Given the description of an element on the screen output the (x, y) to click on. 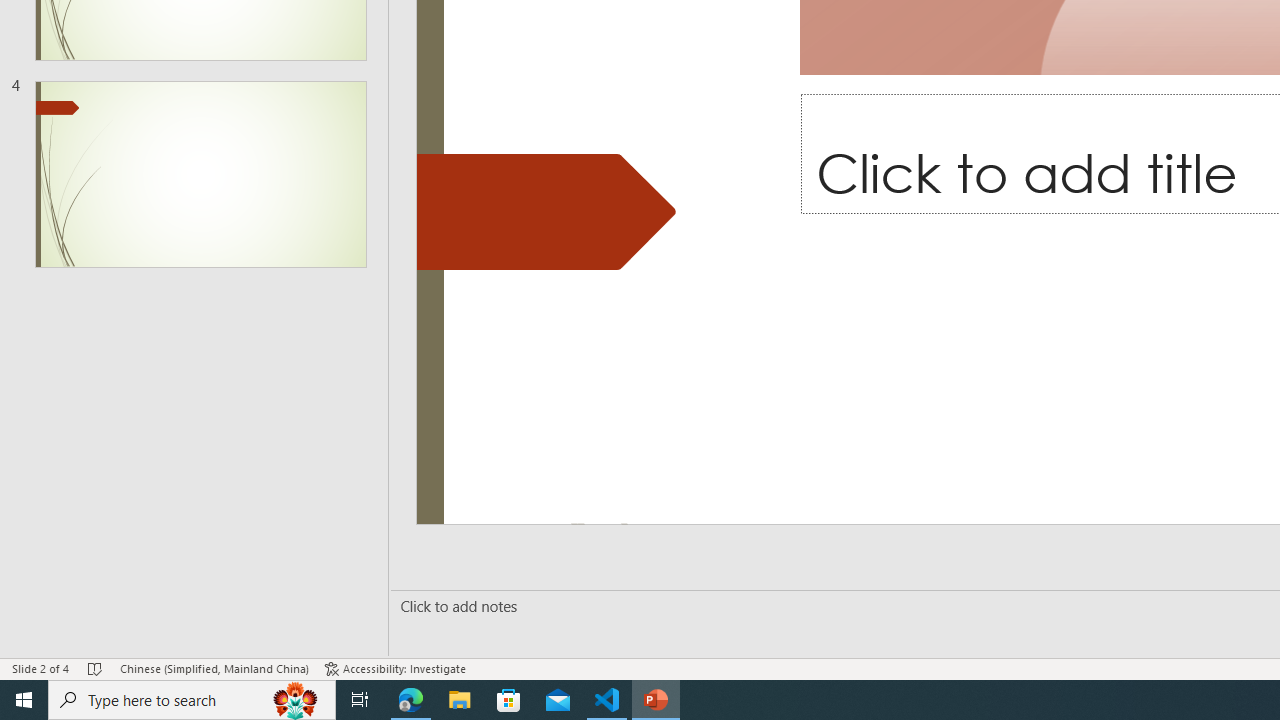
Decorative Locked (546, 212)
